Given the description of an element on the screen output the (x, y) to click on. 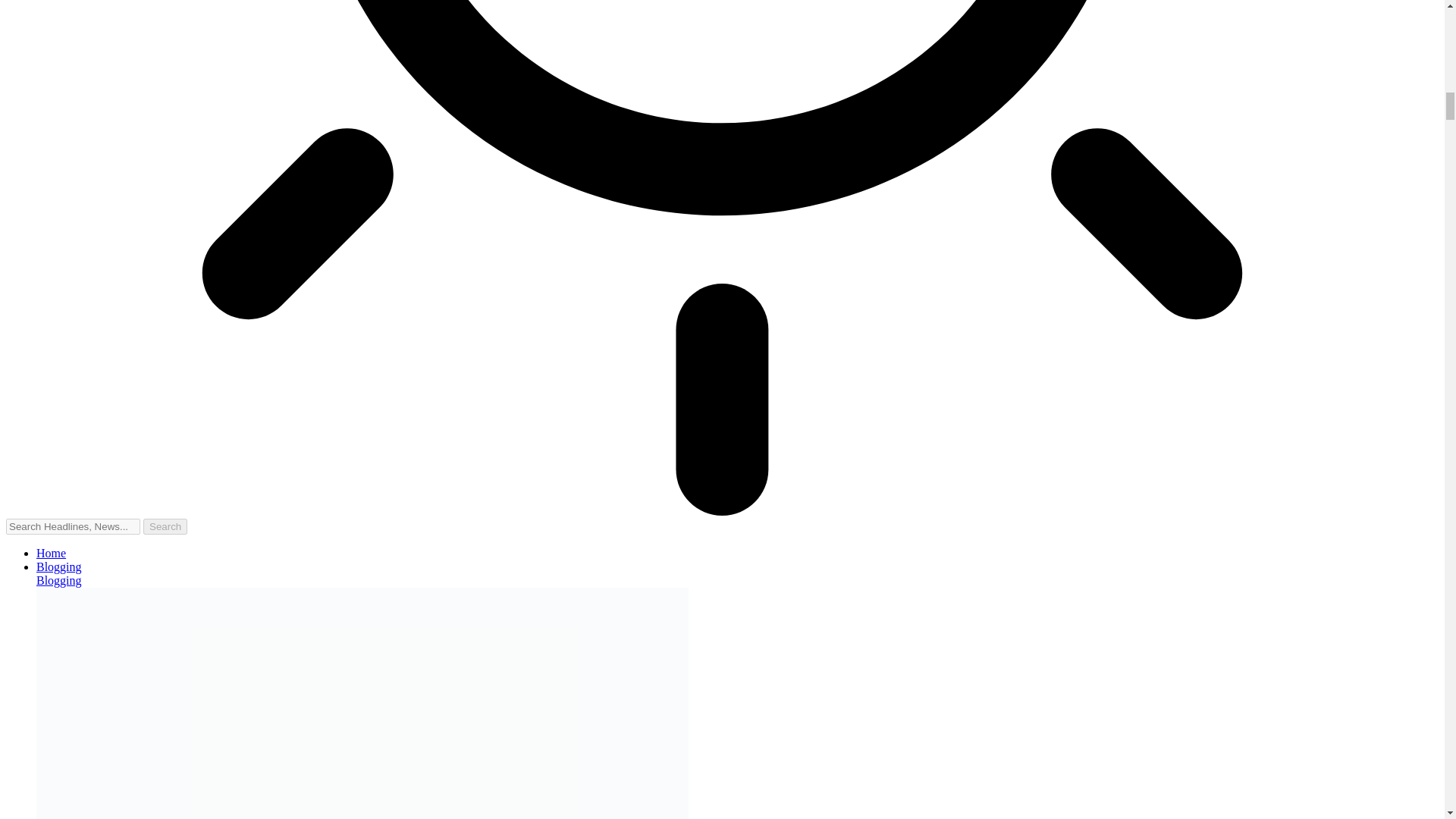
Blogging (58, 566)
Search (164, 526)
Blogging (58, 580)
Search (164, 526)
Home (50, 553)
